Given the description of an element on the screen output the (x, y) to click on. 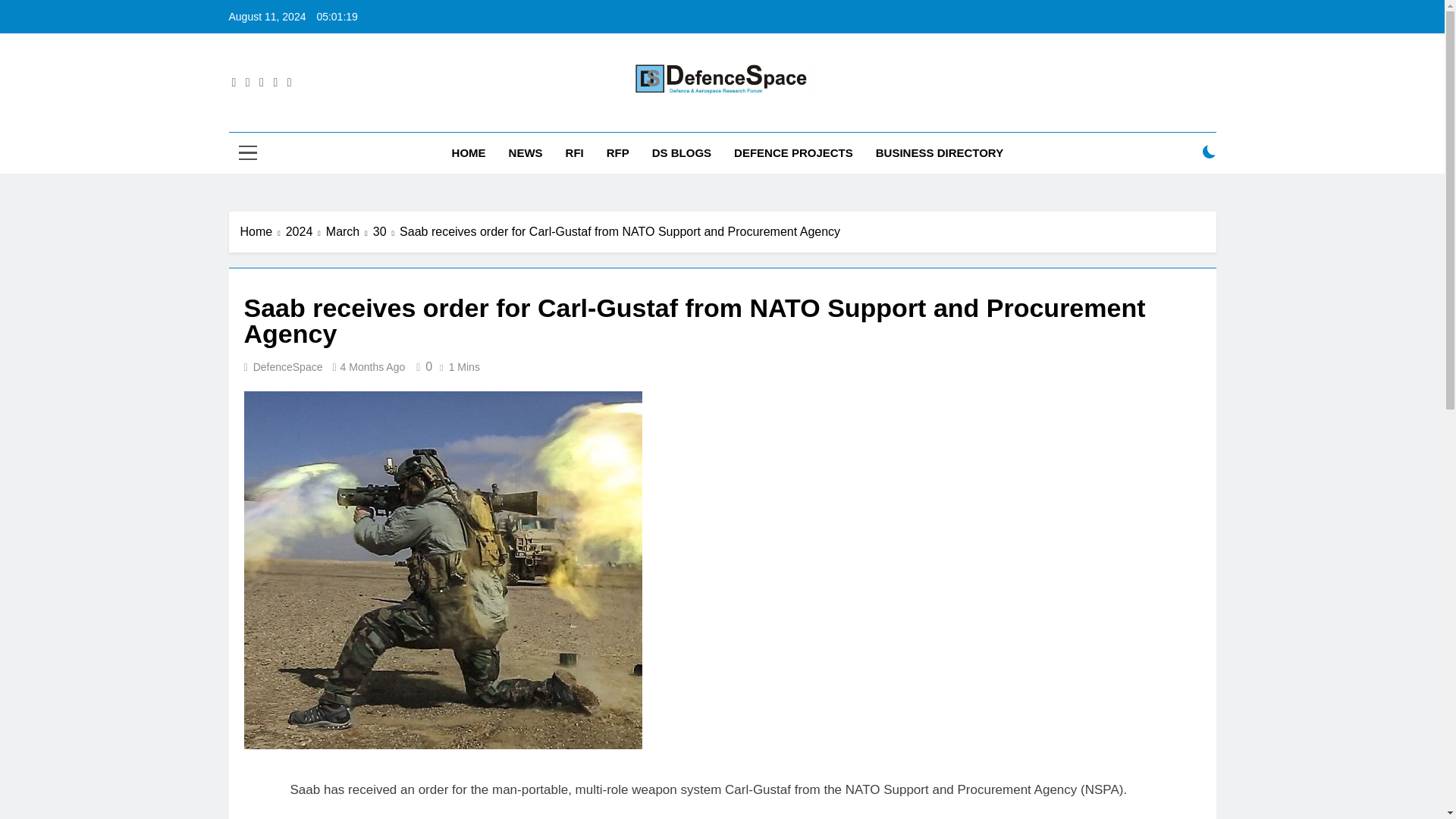
0 (421, 366)
NEWS (525, 152)
on (1208, 151)
HOME (469, 152)
BUSINESS DIRECTORY (939, 152)
RFI (574, 152)
4 Months Ago (373, 367)
Home (262, 231)
DEFENCE PROJECTS (793, 152)
30 (385, 231)
